Given the description of an element on the screen output the (x, y) to click on. 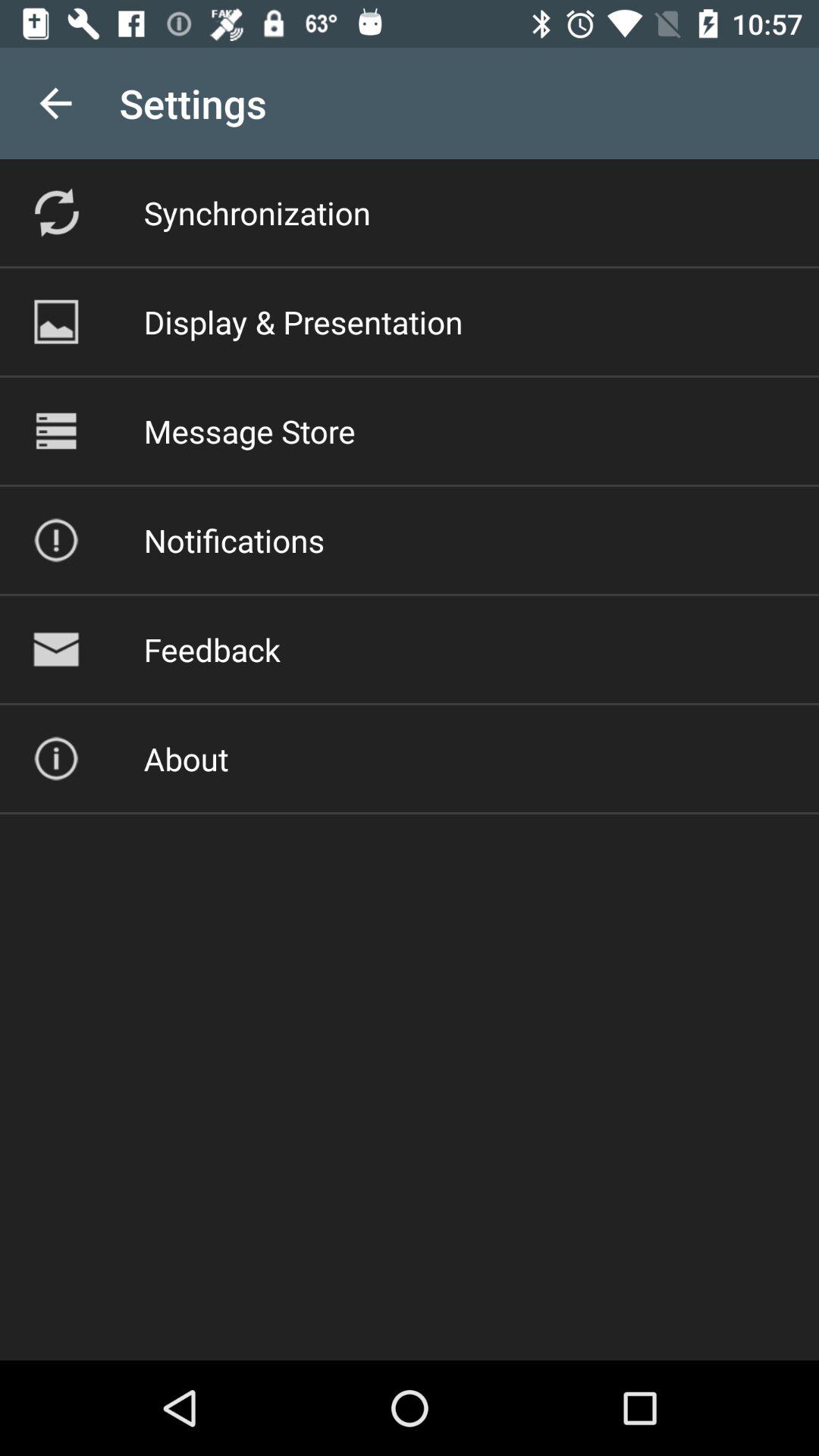
click the icon above message store item (302, 321)
